Given the description of an element on the screen output the (x, y) to click on. 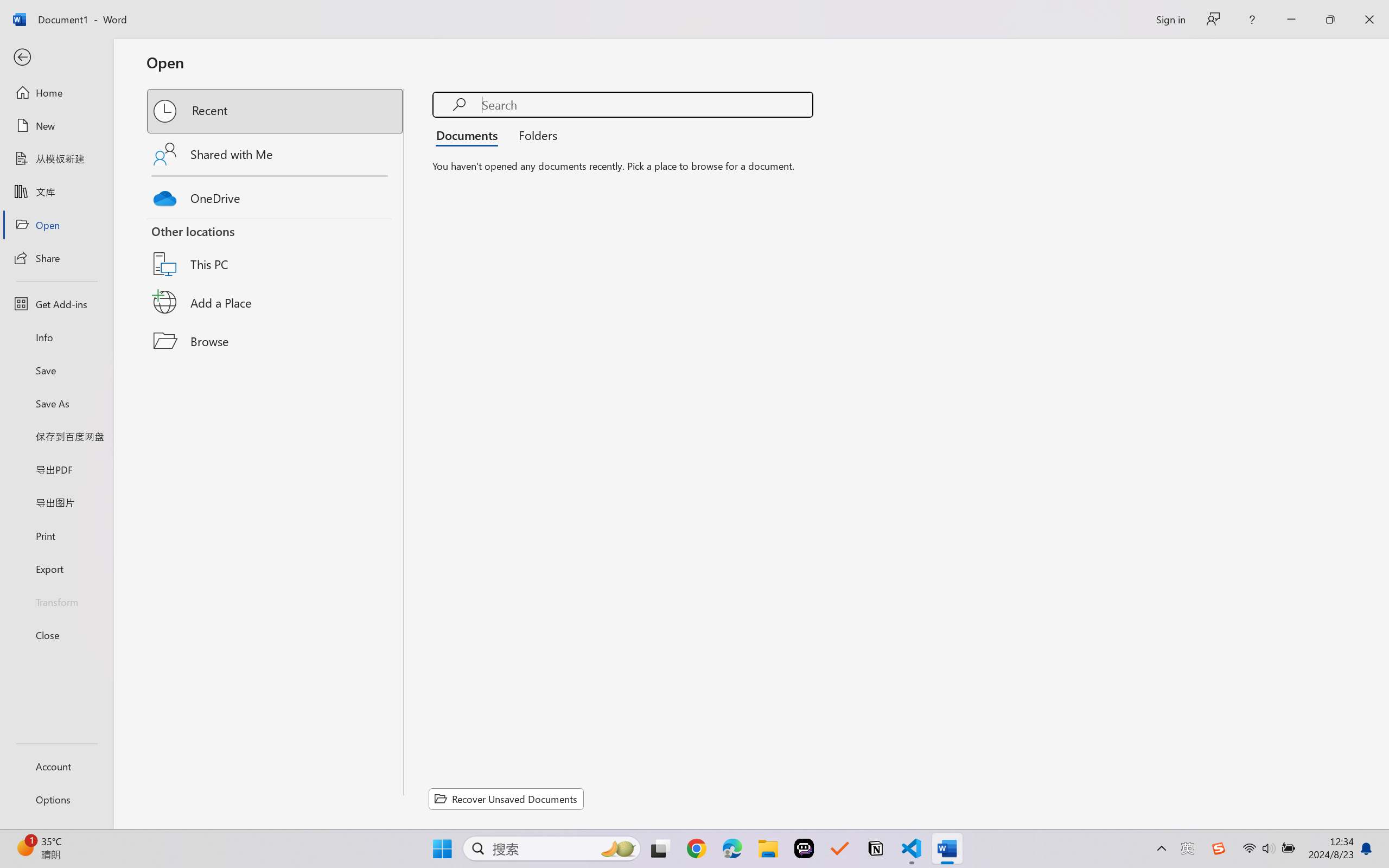
Transform (56, 601)
OneDrive (275, 195)
This PC (275, 249)
New (56, 125)
Documents (469, 134)
